Given the description of an element on the screen output the (x, y) to click on. 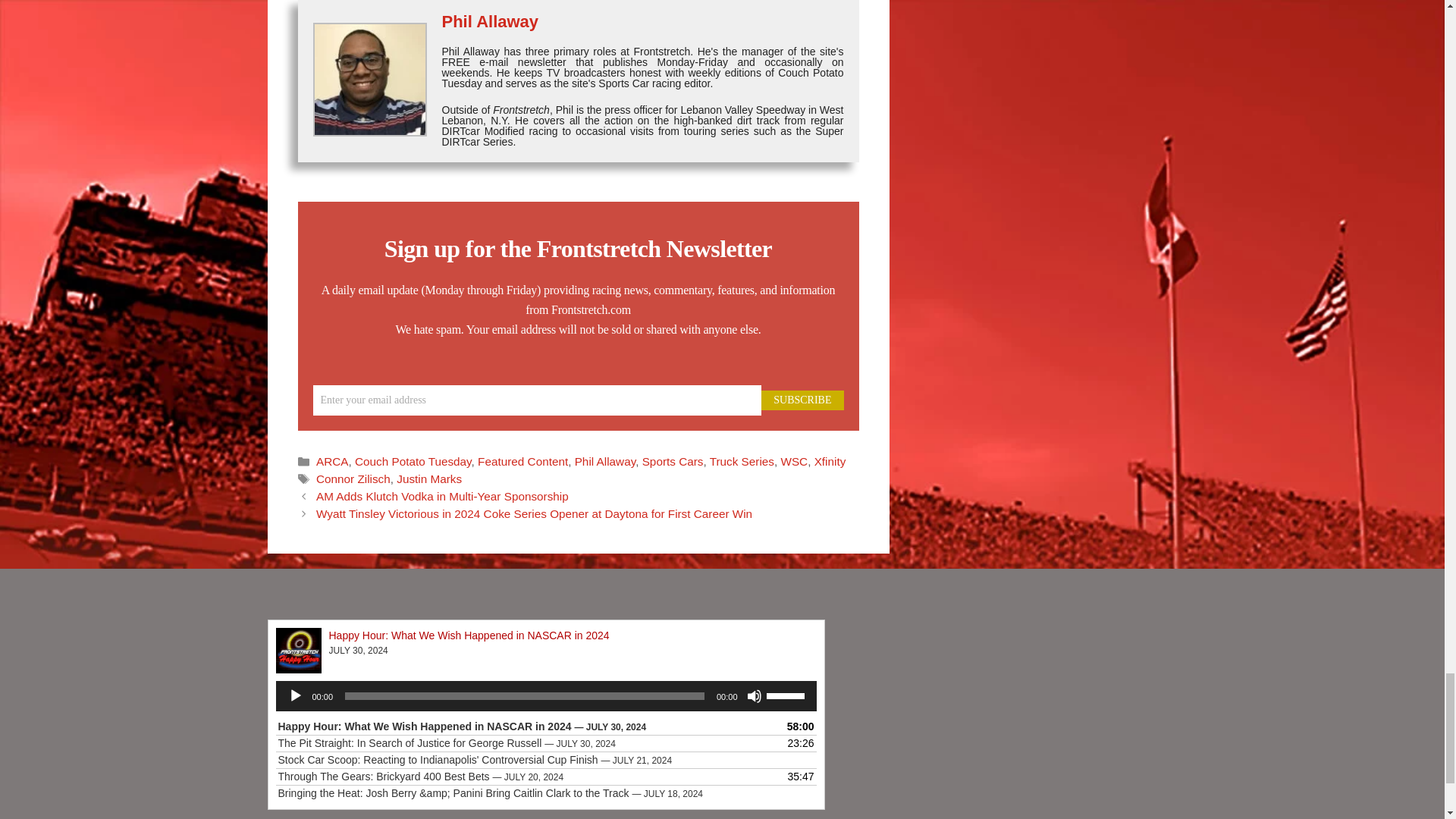
Phil Allaway (489, 21)
